Given the description of an element on the screen output the (x, y) to click on. 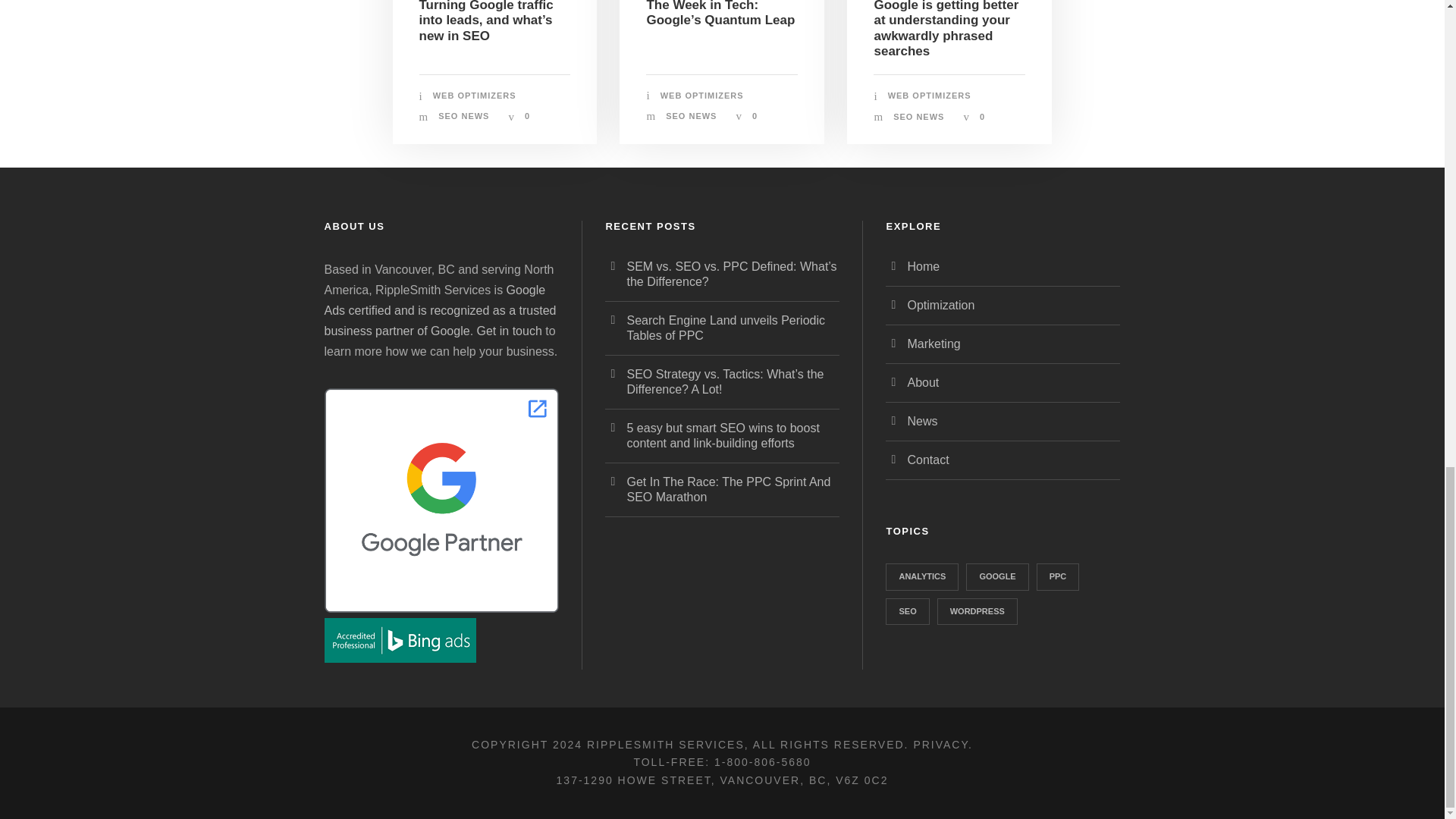
Posts by Web Optimizers (702, 94)
SEO NEWS (463, 115)
SEO NEWS (918, 116)
WEB OPTIMIZERS (702, 94)
SEO NEWS (690, 115)
WEB OPTIMIZERS (474, 94)
WEB OPTIMIZERS (929, 94)
Posts by Web Optimizers (929, 94)
Posts by Web Optimizers (474, 94)
